Given the description of an element on the screen output the (x, y) to click on. 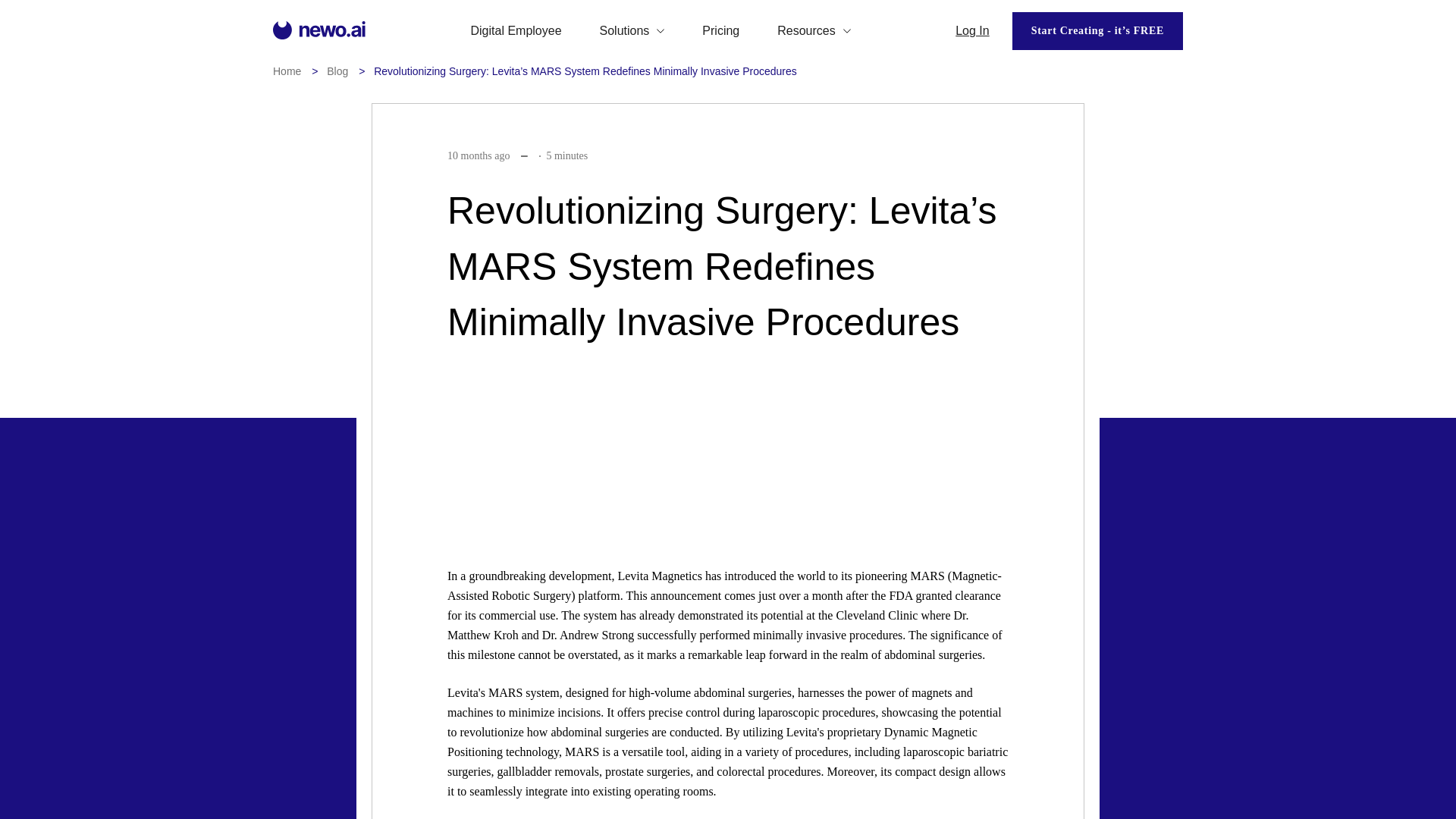
Log In (971, 31)
Solutions (632, 30)
Blog (336, 70)
Digital Employee (515, 30)
Pricing (720, 30)
Home (287, 70)
Resources (813, 30)
